Given the description of an element on the screen output the (x, y) to click on. 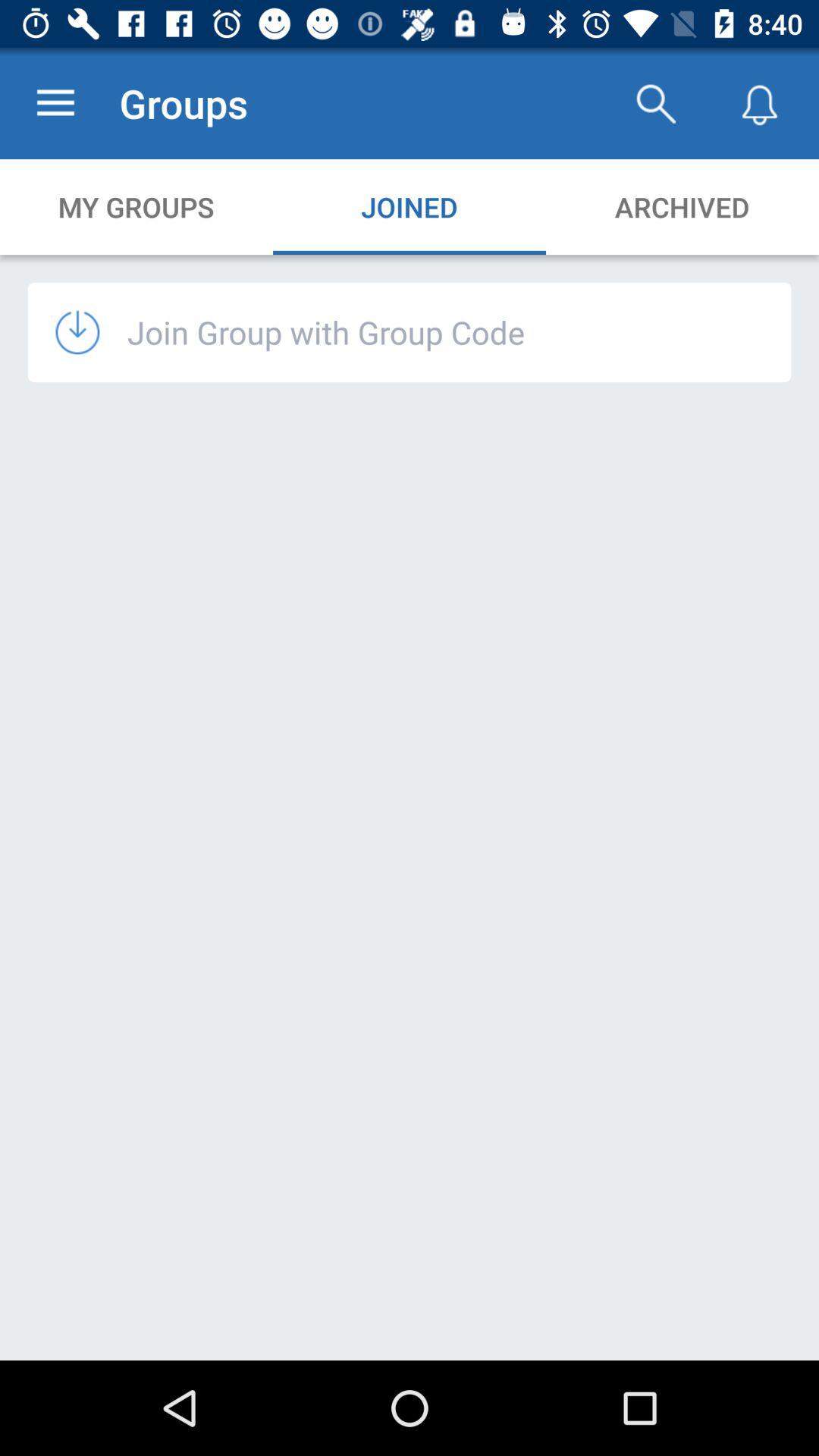
choose the join group with (325, 331)
